Given the description of an element on the screen output the (x, y) to click on. 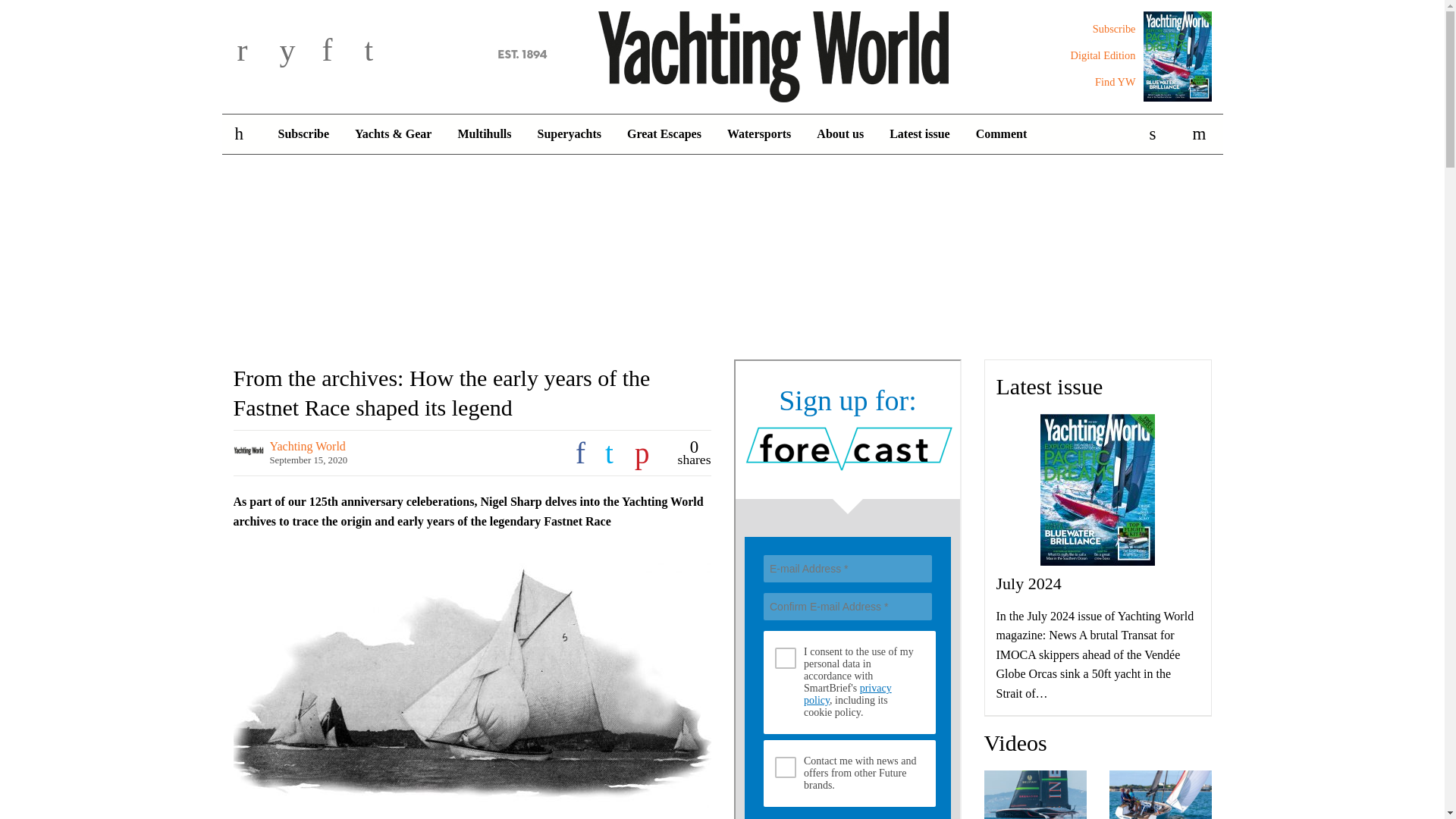
Find YW (1114, 81)
Yachting World (721, 53)
r (254, 52)
y (297, 52)
Subscribe (1114, 28)
Digital Edition (1102, 55)
Yachting World's Profile (307, 445)
Subscribe (1114, 28)
Yachting World (721, 53)
t (382, 52)
Superyachts (569, 133)
Multihulls (484, 133)
Find YW (1114, 81)
f (339, 52)
Digital Edition (1102, 55)
